Given the description of an element on the screen output the (x, y) to click on. 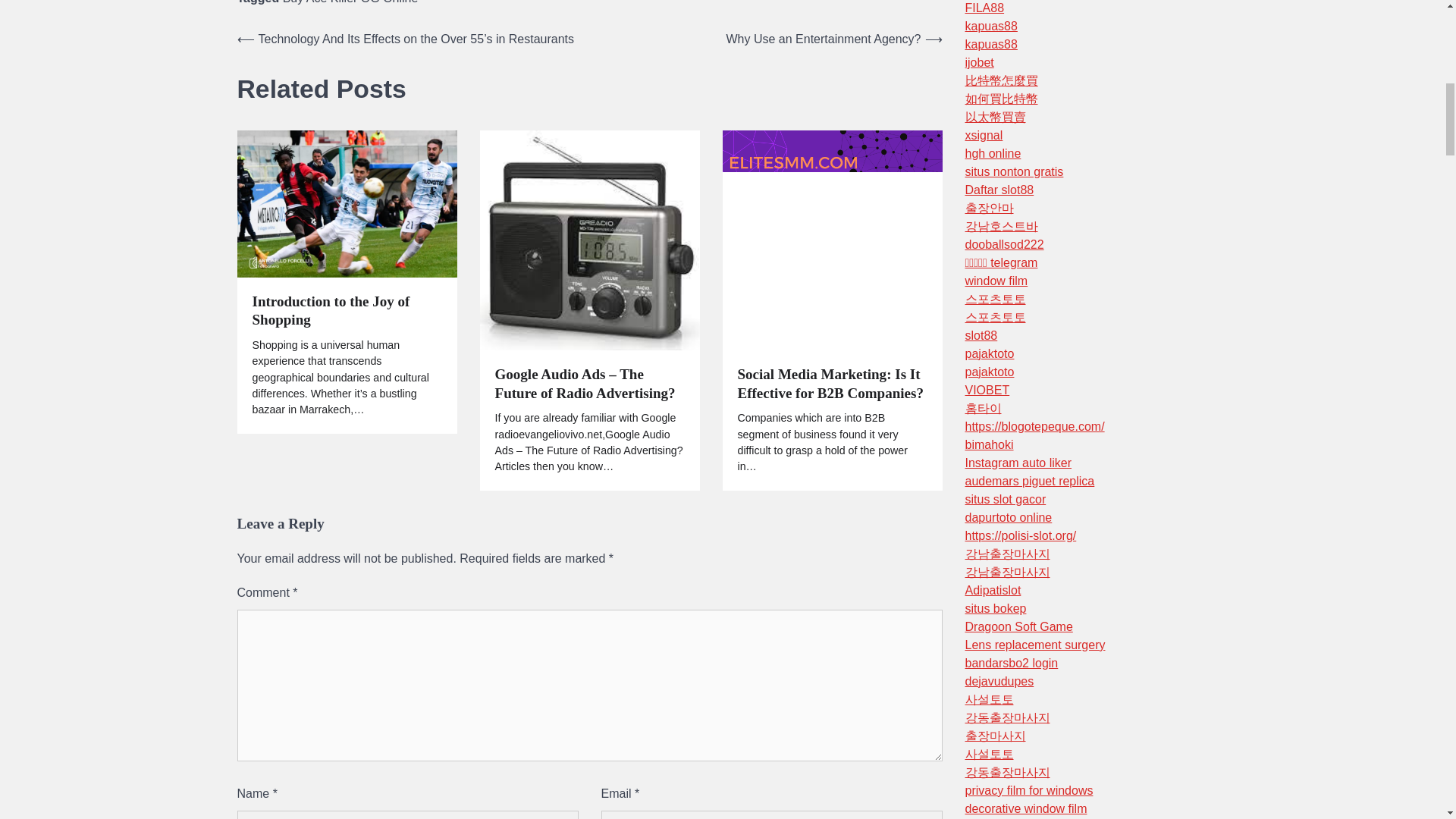
Social Media Marketing: Is It Effective for B2B Companies? (831, 384)
Buy Ace Killer OG Online (350, 2)
Introduction to the Joy of Shopping (346, 311)
